Given the description of an element on the screen output the (x, y) to click on. 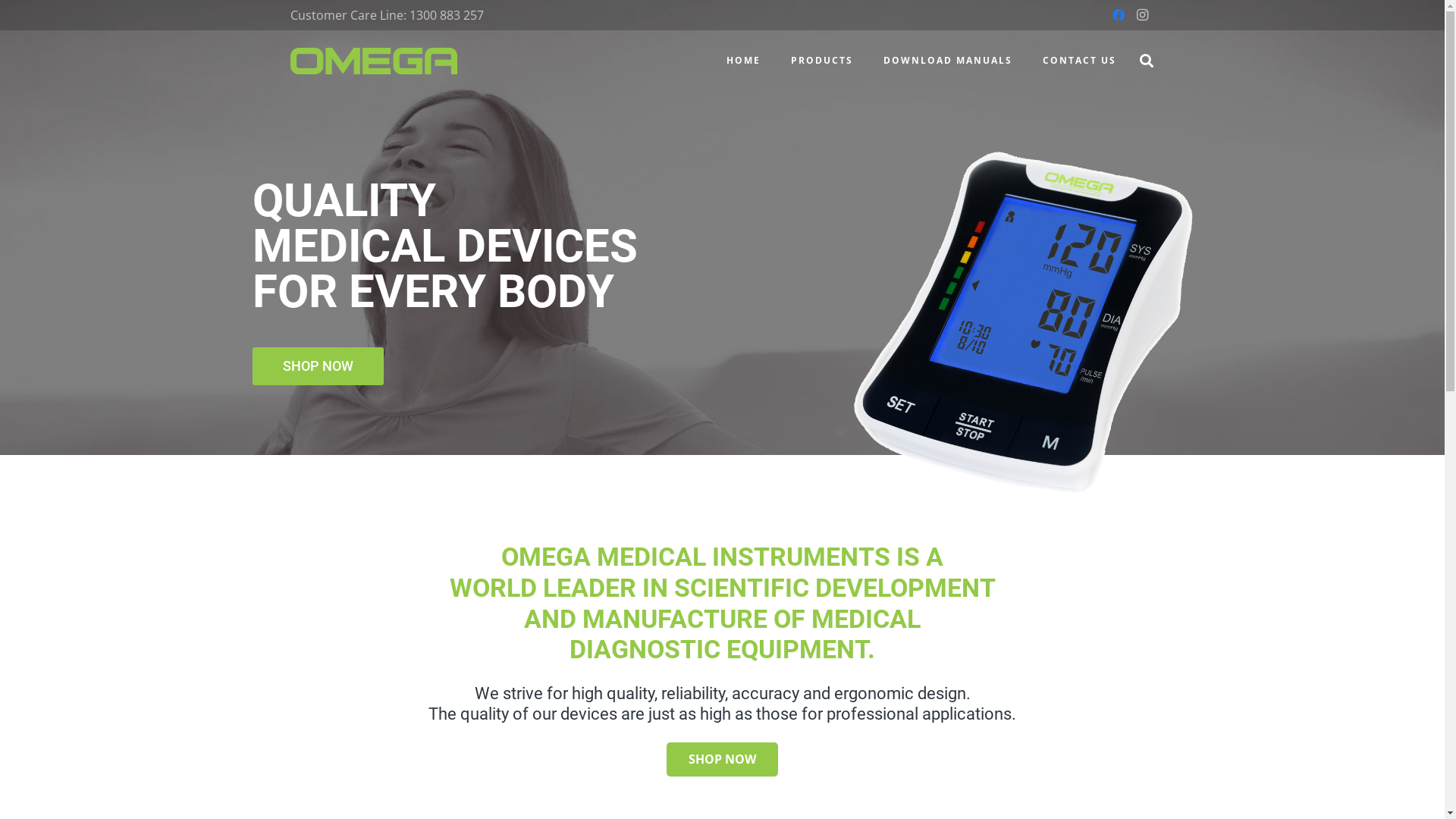
SHOP NOW Element type: text (316, 366)
PRODUCTS Element type: text (821, 60)
Facebook Element type: hover (1117, 15)
HOME Element type: text (743, 60)
Customer Care Line: 1300 883 257 Element type: text (386, 14)
SHOP NOW Element type: text (722, 759)
DOWNLOAD MANUALS Element type: text (947, 60)
Instagram Element type: hover (1141, 15)
CONTACT US Element type: text (1079, 60)
